Given the description of an element on the screen output the (x, y) to click on. 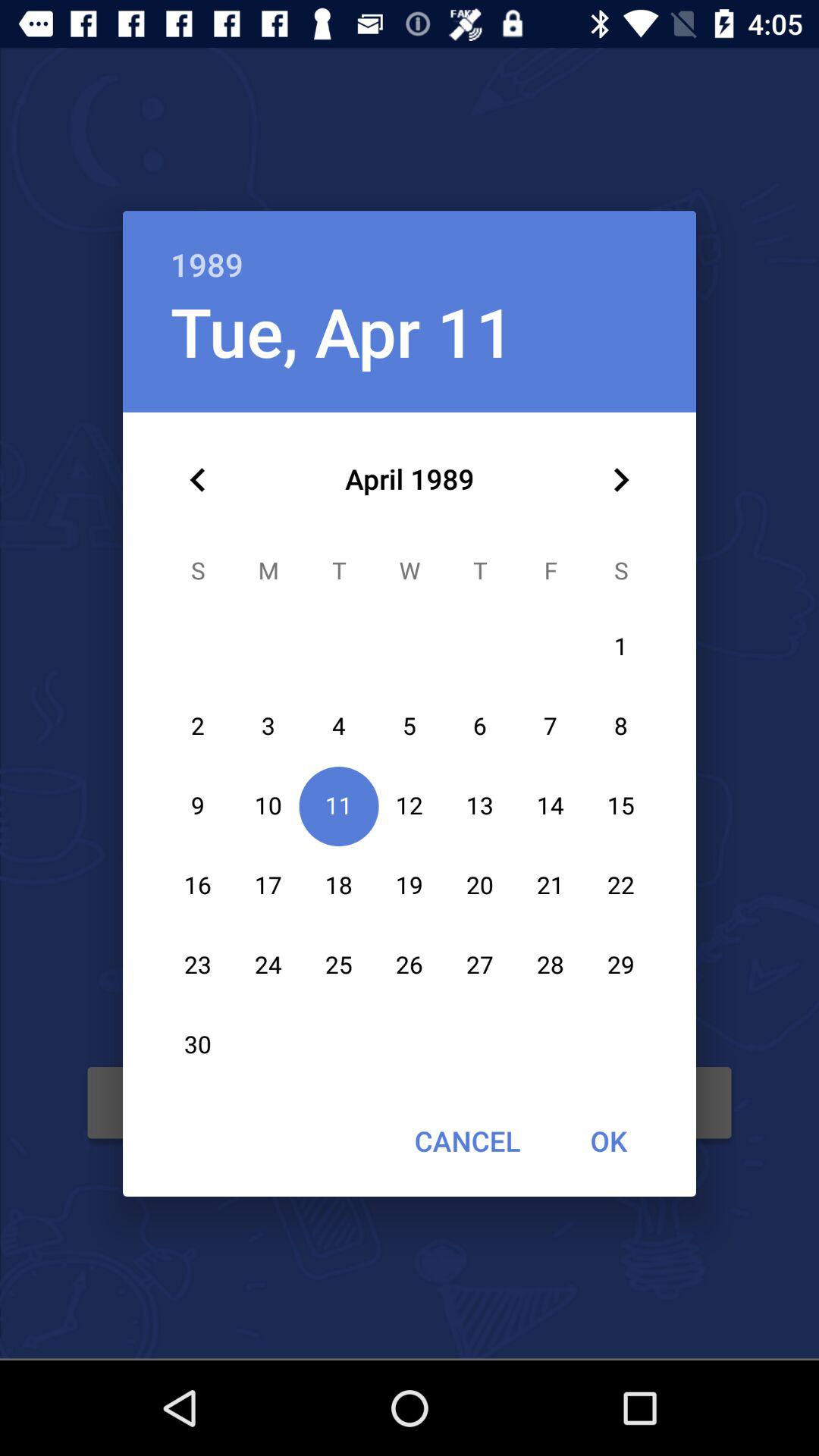
tap the icon above the ok icon (620, 479)
